Given the description of an element on the screen output the (x, y) to click on. 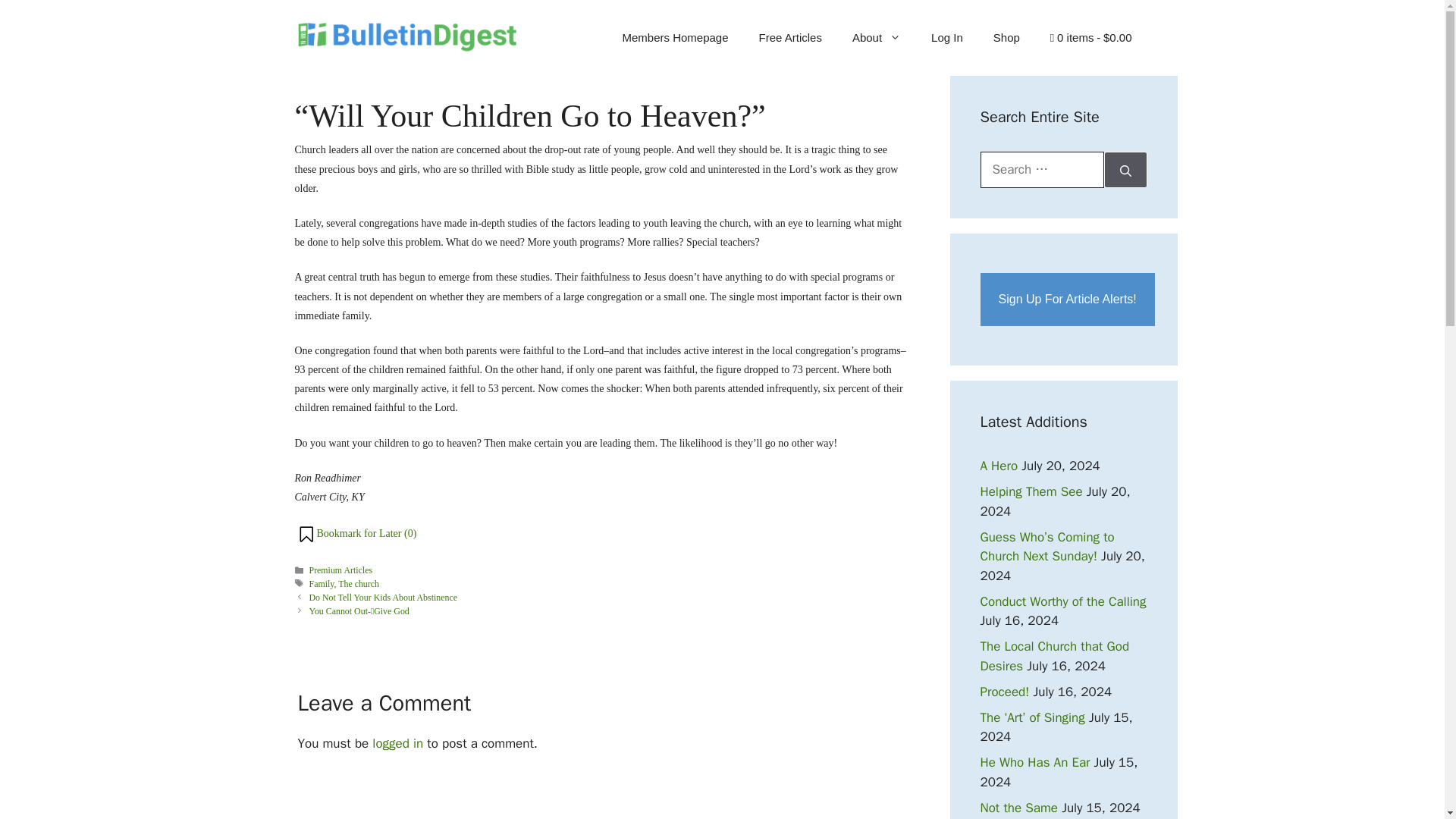
Start shopping (1091, 37)
Free Articles (790, 37)
The Local Church that God Desires (1054, 656)
Members Homepage (674, 37)
Sign Up For Article Alerts! (1066, 299)
Search for: (1041, 169)
He Who Has An Ear (1034, 762)
logged in (397, 743)
Bookmark This (357, 534)
Premium Articles (340, 570)
